Given the description of an element on the screen output the (x, y) to click on. 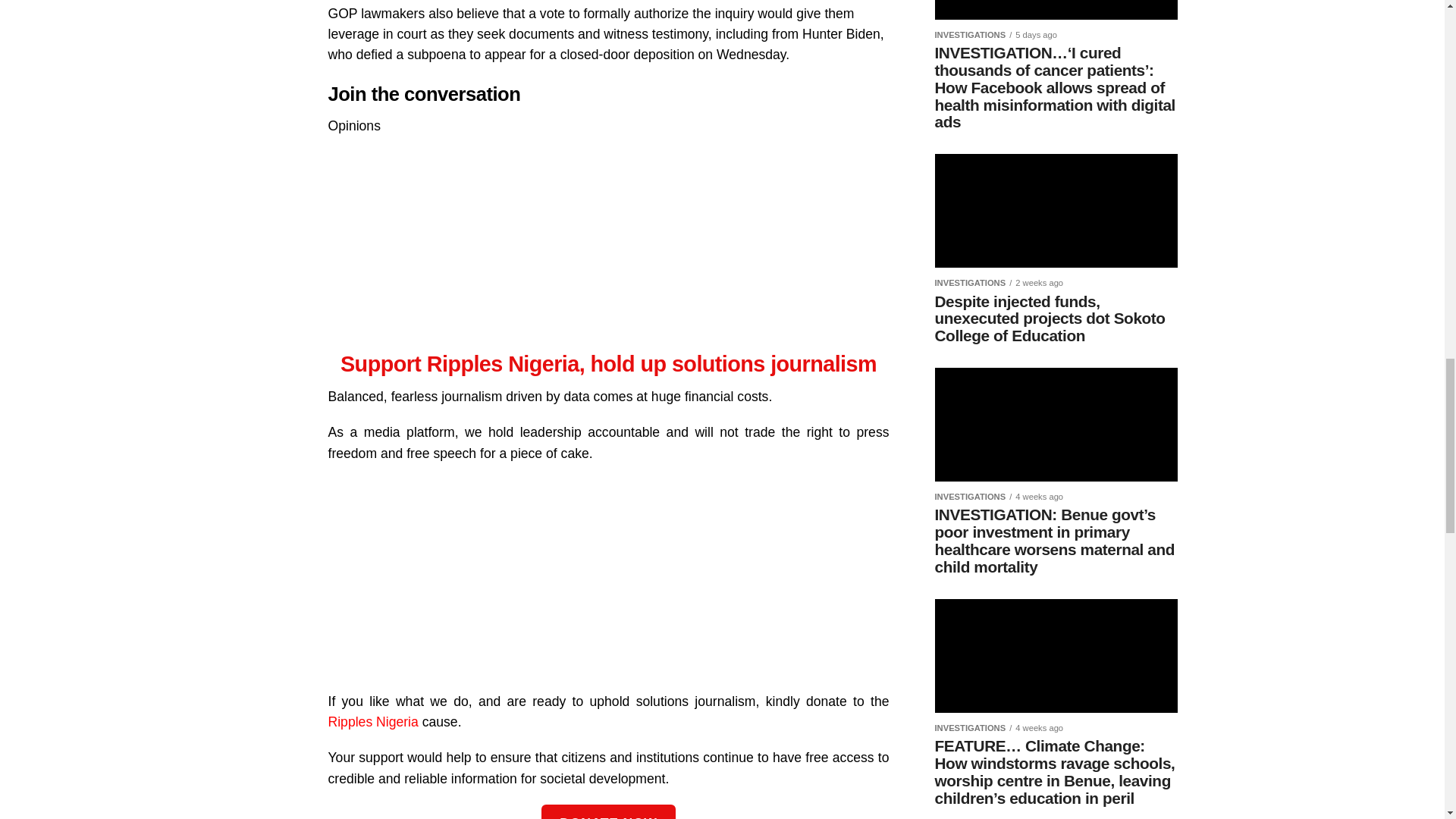
Advertisement (607, 585)
